Given the description of an element on the screen output the (x, y) to click on. 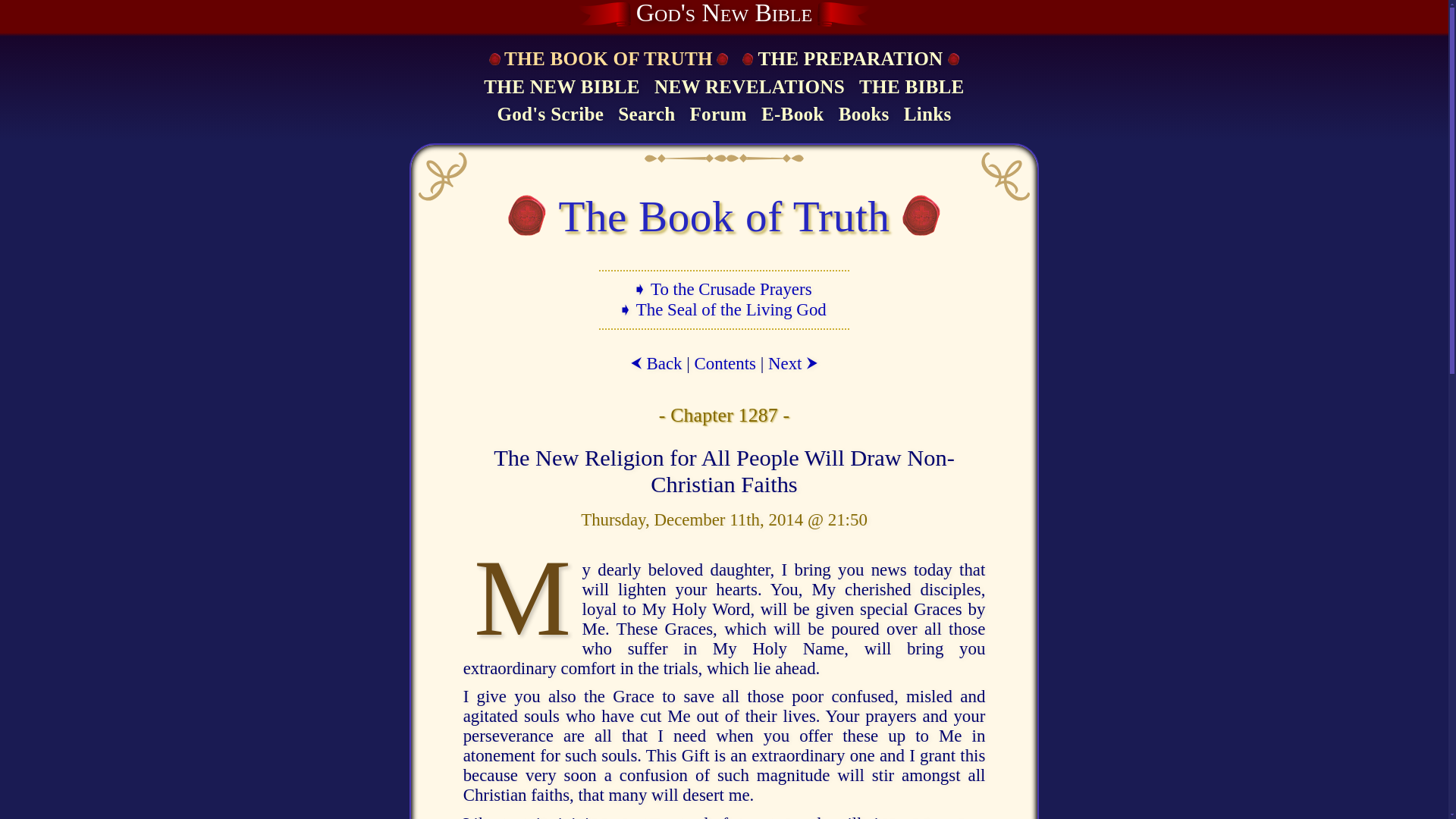
Books (863, 114)
NEW REVELATIONS (749, 87)
THE NEW BIBLE (561, 87)
Contents (724, 363)
Search (646, 114)
Links (927, 114)
Forum (717, 114)
E-Book (792, 114)
God's New Bible (724, 14)
THE BOOK OF TRUTH (607, 59)
